Given the description of an element on the screen output the (x, y) to click on. 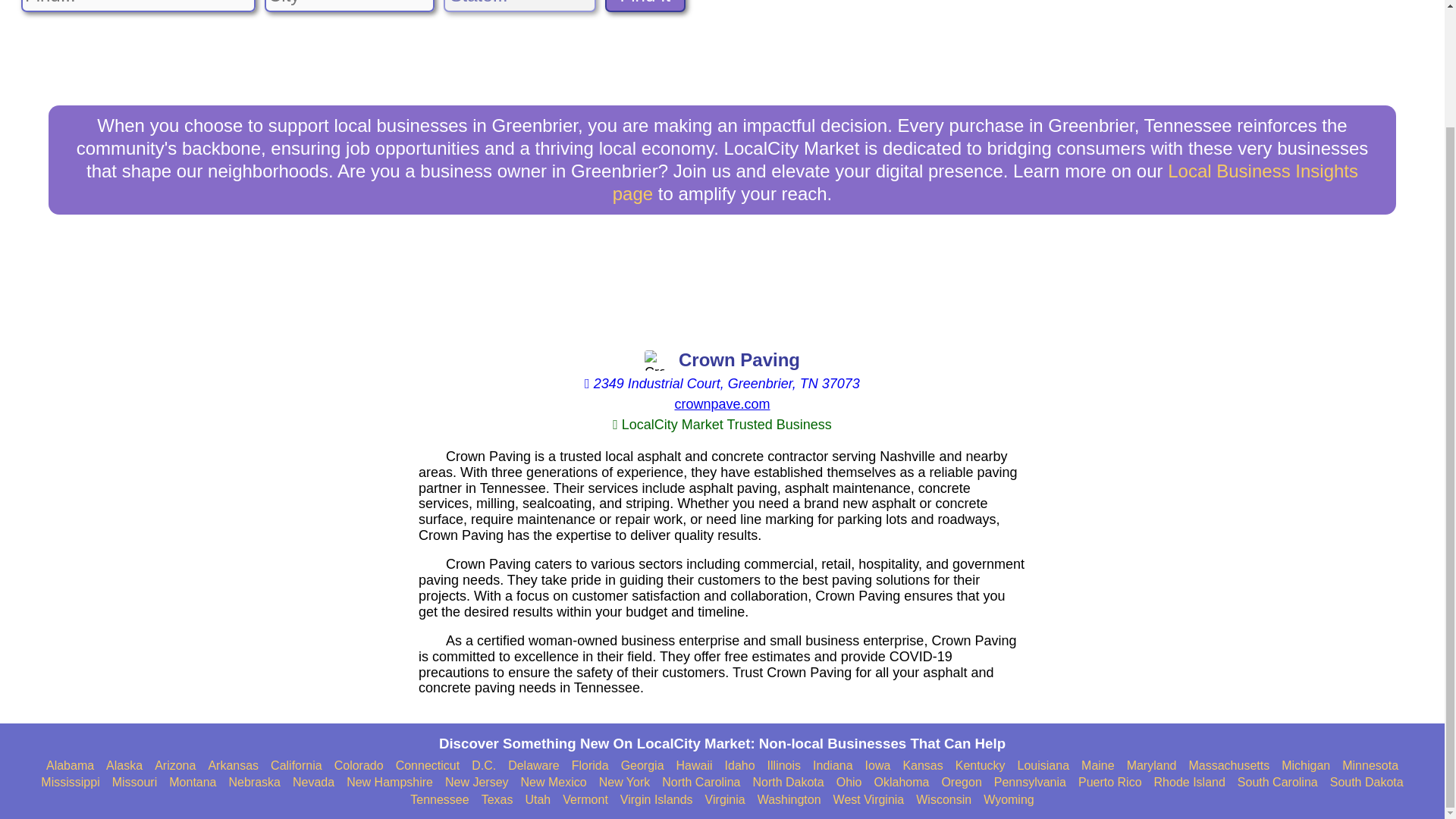
Hawaii (695, 766)
Montana (191, 782)
Find It (645, 6)
Local Business Insights (985, 181)
Find Businesses in Georgia (642, 766)
Georgia (642, 766)
D.C. (483, 766)
Find Businesses in Connecticut (428, 766)
Find Businesses in D.C. (483, 766)
Alaska (124, 766)
